Given the description of an element on the screen output the (x, y) to click on. 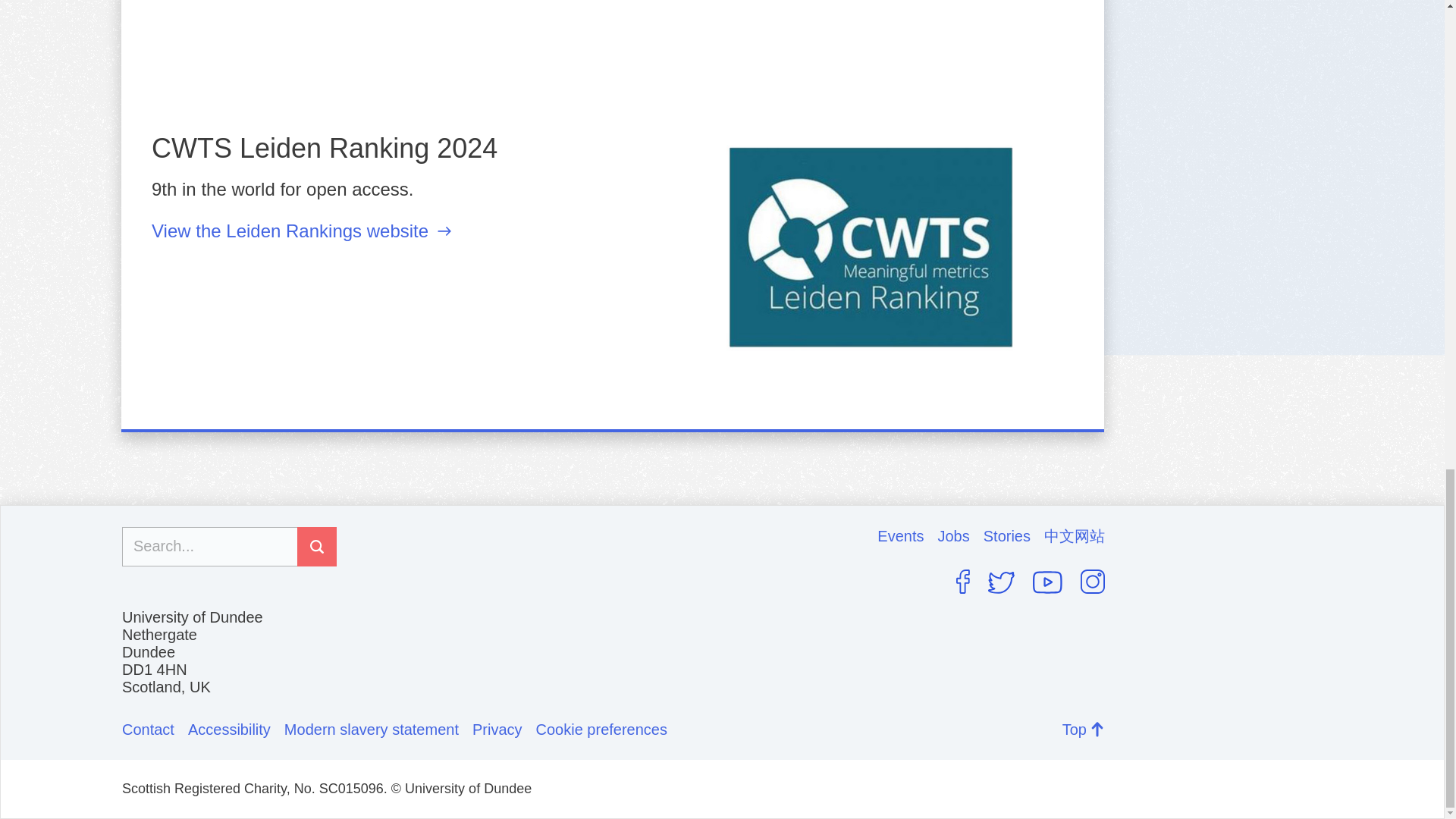
Find events that are happening at the University of Dundee (907, 536)
Explore our Chinese language website  (1074, 536)
Twitter (1001, 582)
Youtube (1047, 581)
Instagram (1092, 581)
